Given the description of an element on the screen output the (x, y) to click on. 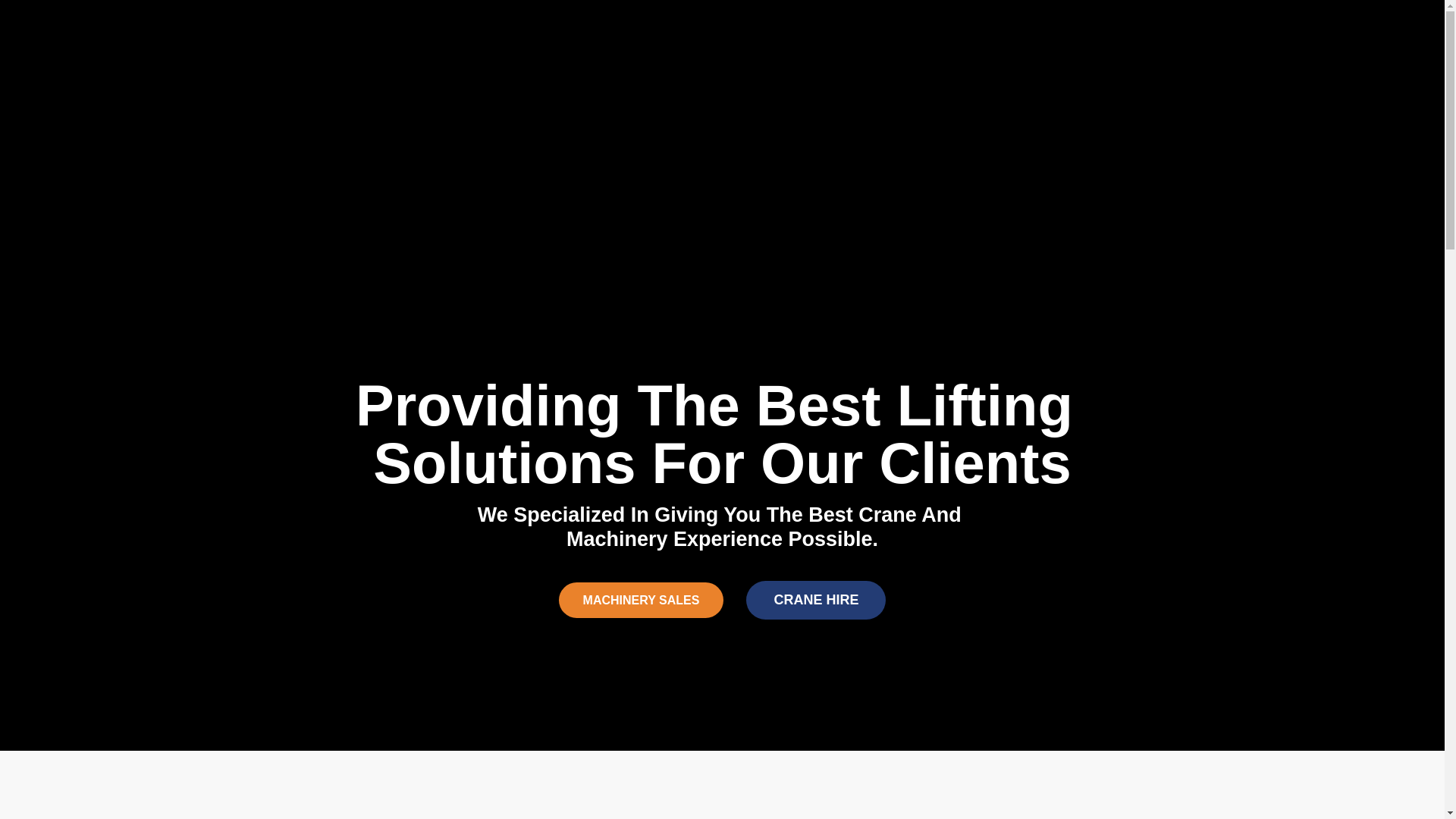
CRANE HIRE Element type: text (815, 600)
MACHINERY SALES Element type: text (641, 600)
